Given the description of an element on the screen output the (x, y) to click on. 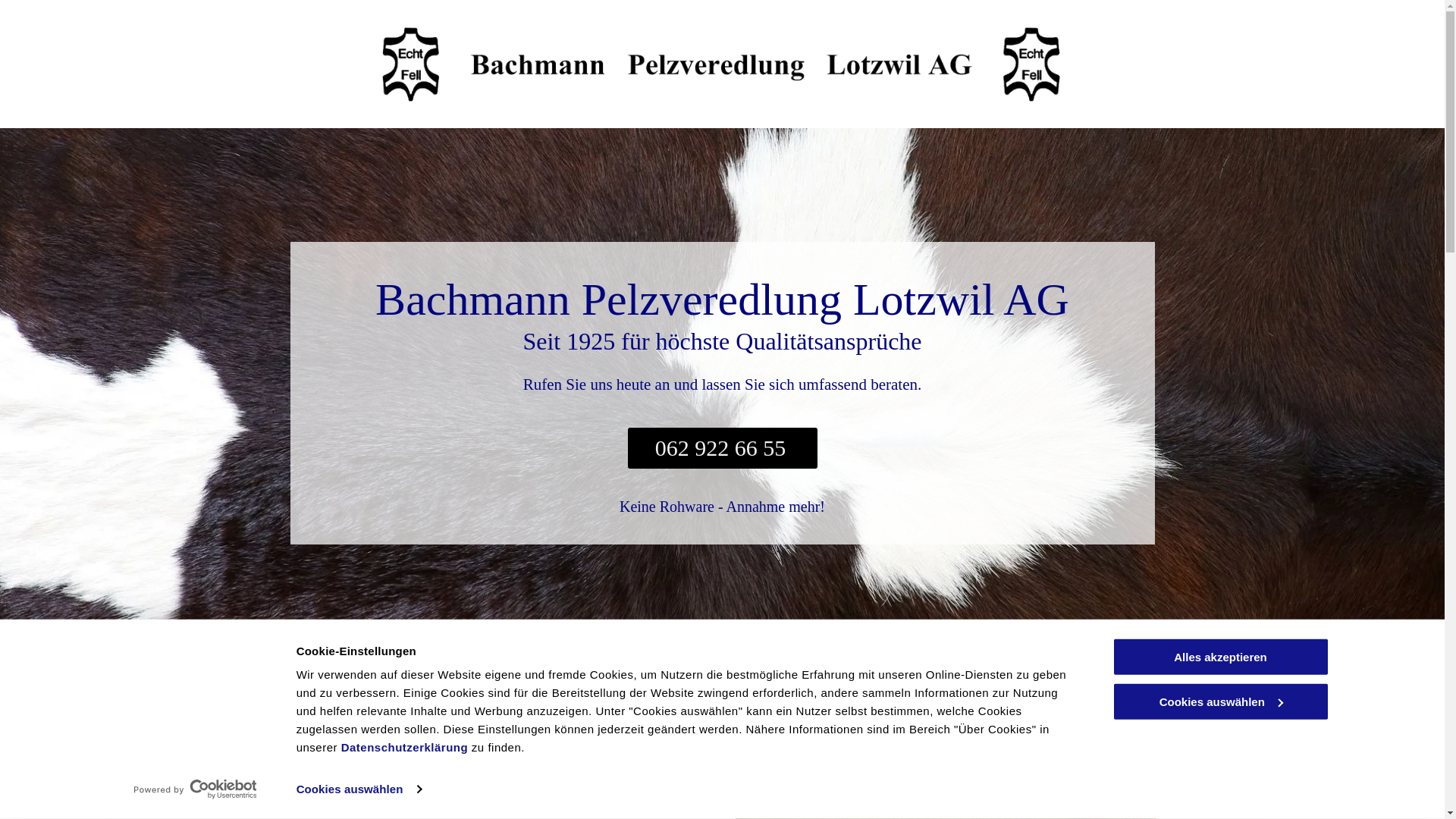
Alles akzeptieren Element type: text (1219, 656)
062 922 66 55 Element type: text (722, 447)
